Given the description of an element on the screen output the (x, y) to click on. 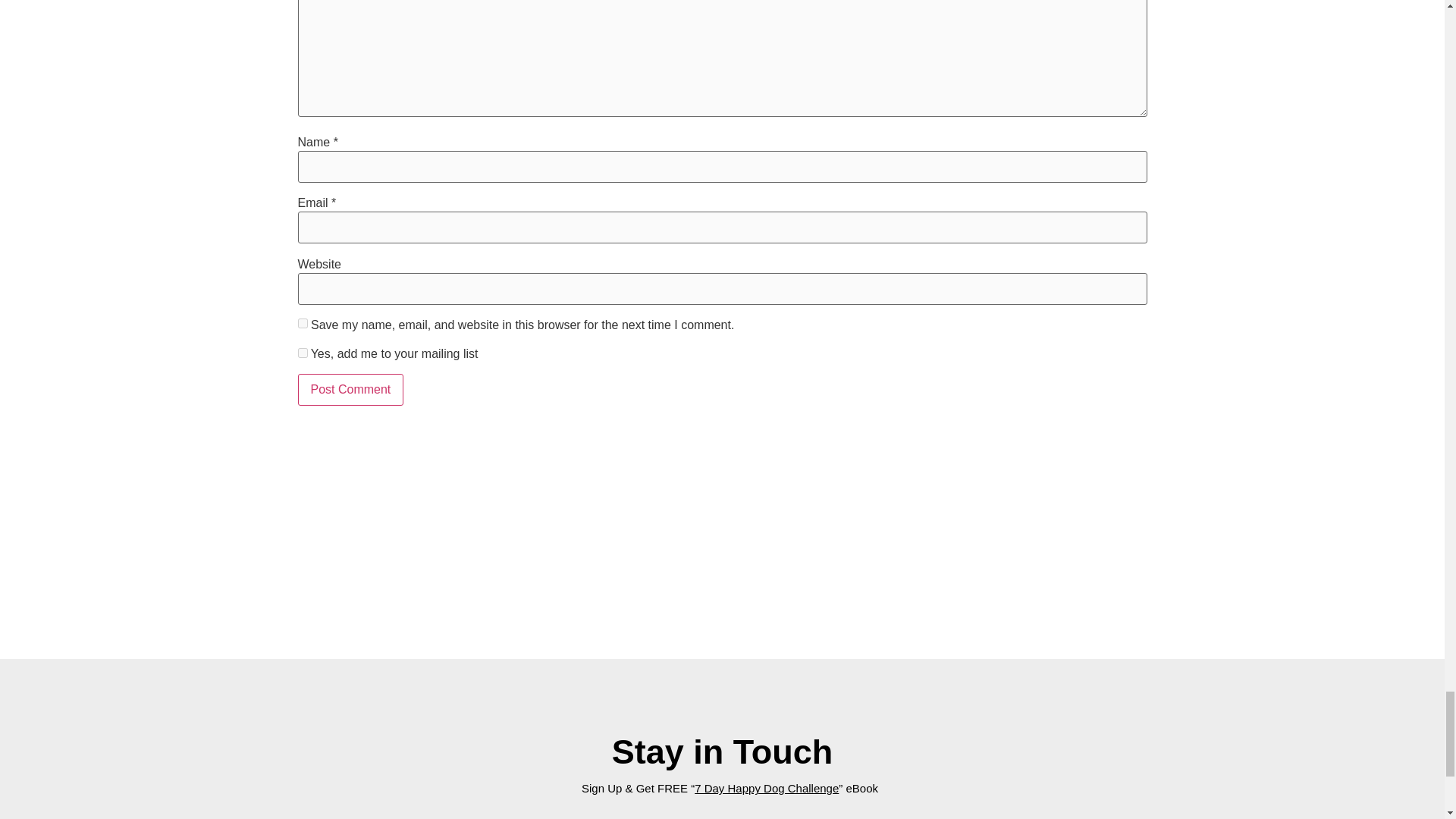
yes (302, 323)
Post Comment (350, 389)
1 (302, 352)
